Given the description of an element on the screen output the (x, y) to click on. 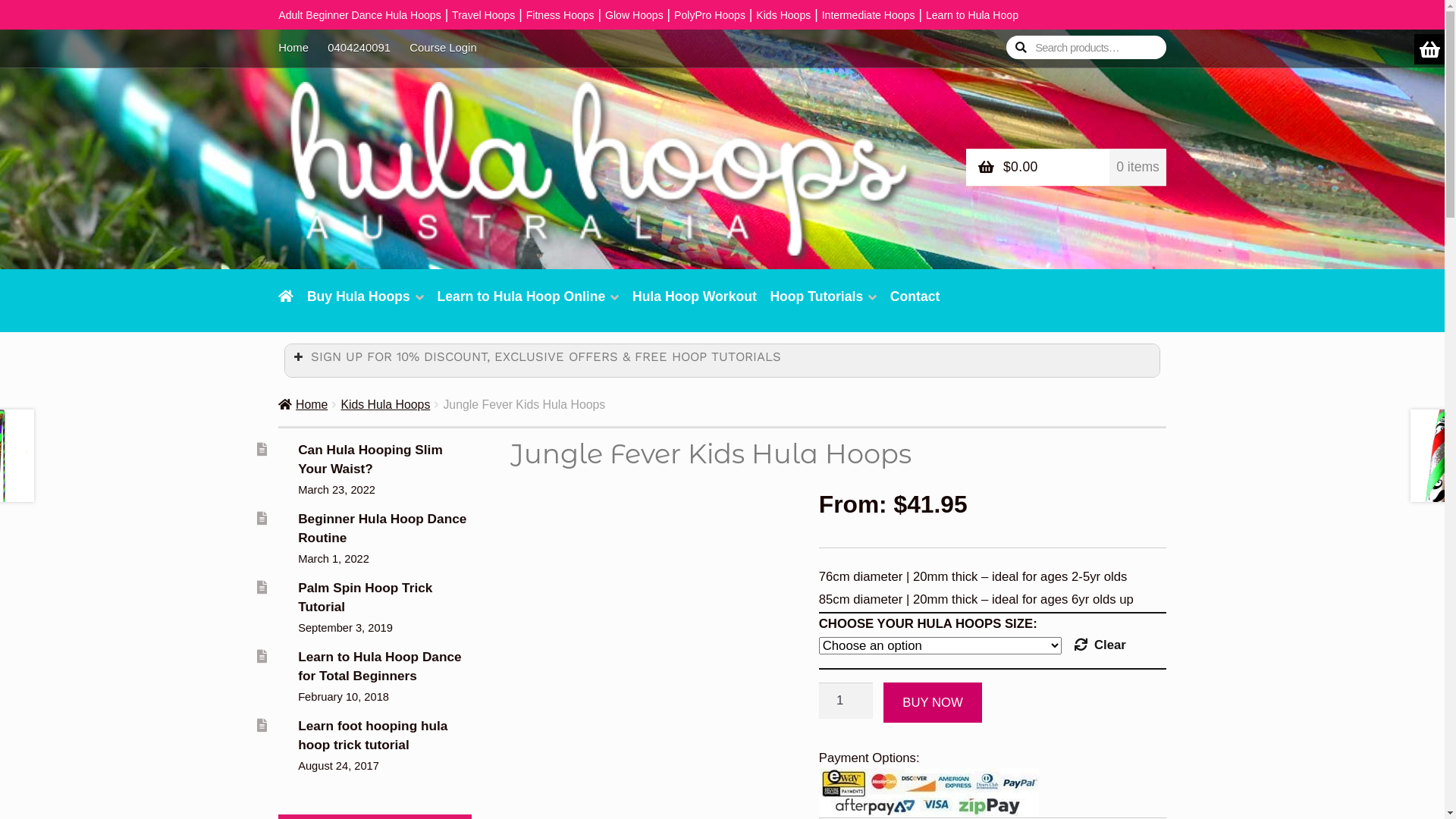
SHOW DISCOUNT CODE NOW Element type: text (836, 391)
Intermediate Hoops Element type: text (868, 15)
Contact Element type: text (914, 304)
Clear Element type: text (1100, 644)
Course Login Element type: text (443, 48)
Learn to Hula Hoop Dance for Total Beginners Element type: text (379, 665)
Hoop Tutorials Element type: text (823, 304)
Search Element type: text (1005, 28)
Skip to navigation Element type: text (277, 28)
Kids Hula Hoops Element type: text (384, 404)
$0.00
0 items Element type: text (1066, 167)
Home Element type: text (302, 404)
Facebook Hoopsalive Element type: hover (959, 304)
0404240091 Element type: text (359, 48)
Beginner Hula Hoop Dance Routine Element type: text (382, 527)
Buy Hula Hoops Element type: text (365, 304)
Can Hula Hooping Slim Your Waist? Element type: text (370, 458)
Kids Hoops Element type: text (783, 15)
Fitness Hoops Element type: text (560, 15)
Adult Beginner Dance Hula Hoops Element type: text (359, 15)
BUY NOW Element type: text (932, 702)
Hula Hoop Workout Element type: text (693, 304)
YouTube Channel Hula Hooping Element type: hover (1013, 304)
Home Element type: text (297, 48)
Learn to Hula Hoop Online Element type: text (528, 304)
Glow Hoops Element type: text (634, 15)
Instagram Element type: hover (987, 304)
Learn to Hula Hoop Element type: text (971, 15)
PolyPro Hoops Element type: text (709, 15)
Palm Spin Hoop Trick Tutorial Element type: text (365, 596)
Learn foot hooping hula hoop trick tutorial Element type: text (372, 734)
Travel Hoops Element type: text (482, 15)
